Given the description of an element on the screen output the (x, y) to click on. 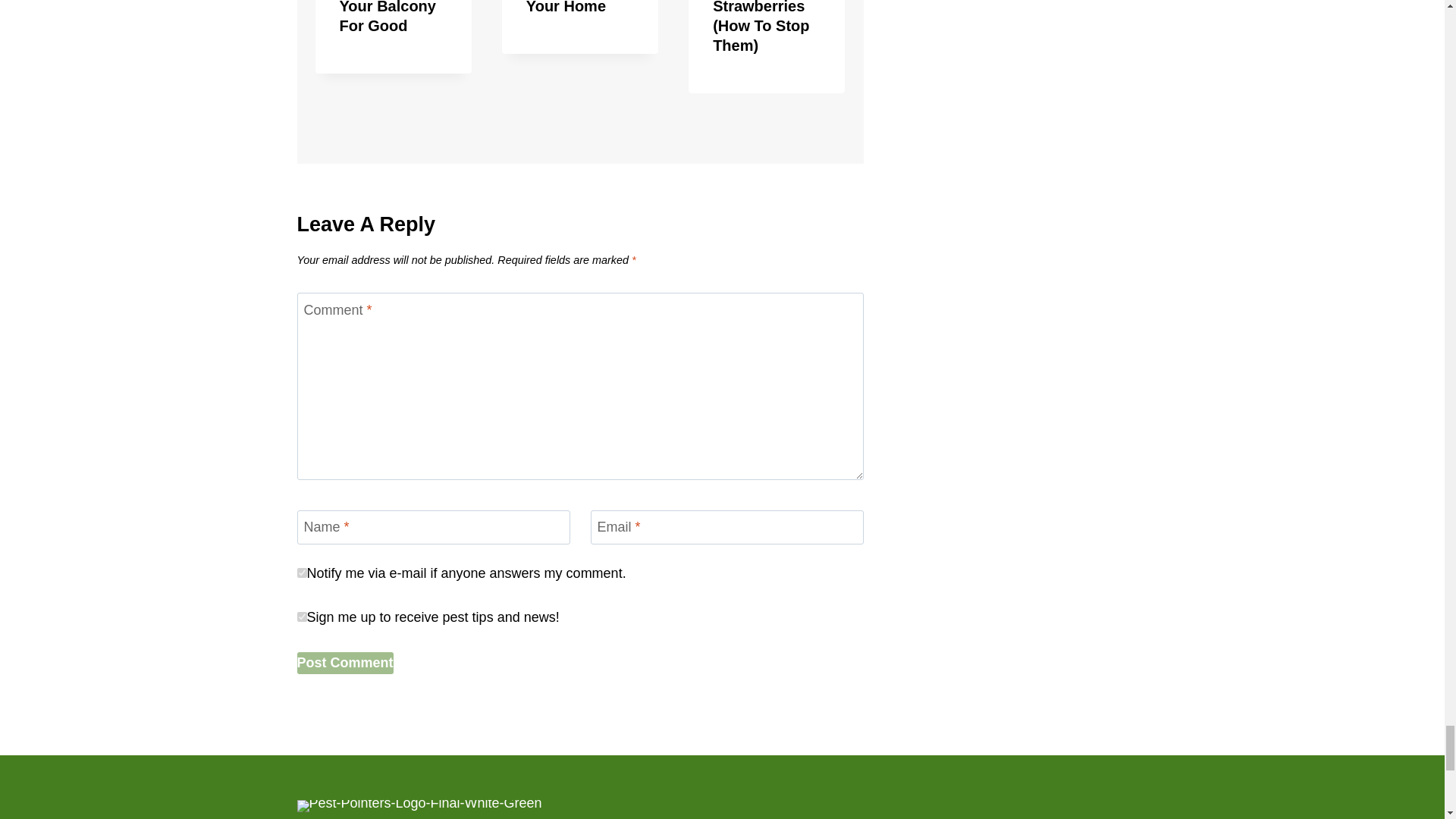
on (302, 573)
Post Comment (345, 662)
1 (302, 616)
